Given the description of an element on the screen output the (x, y) to click on. 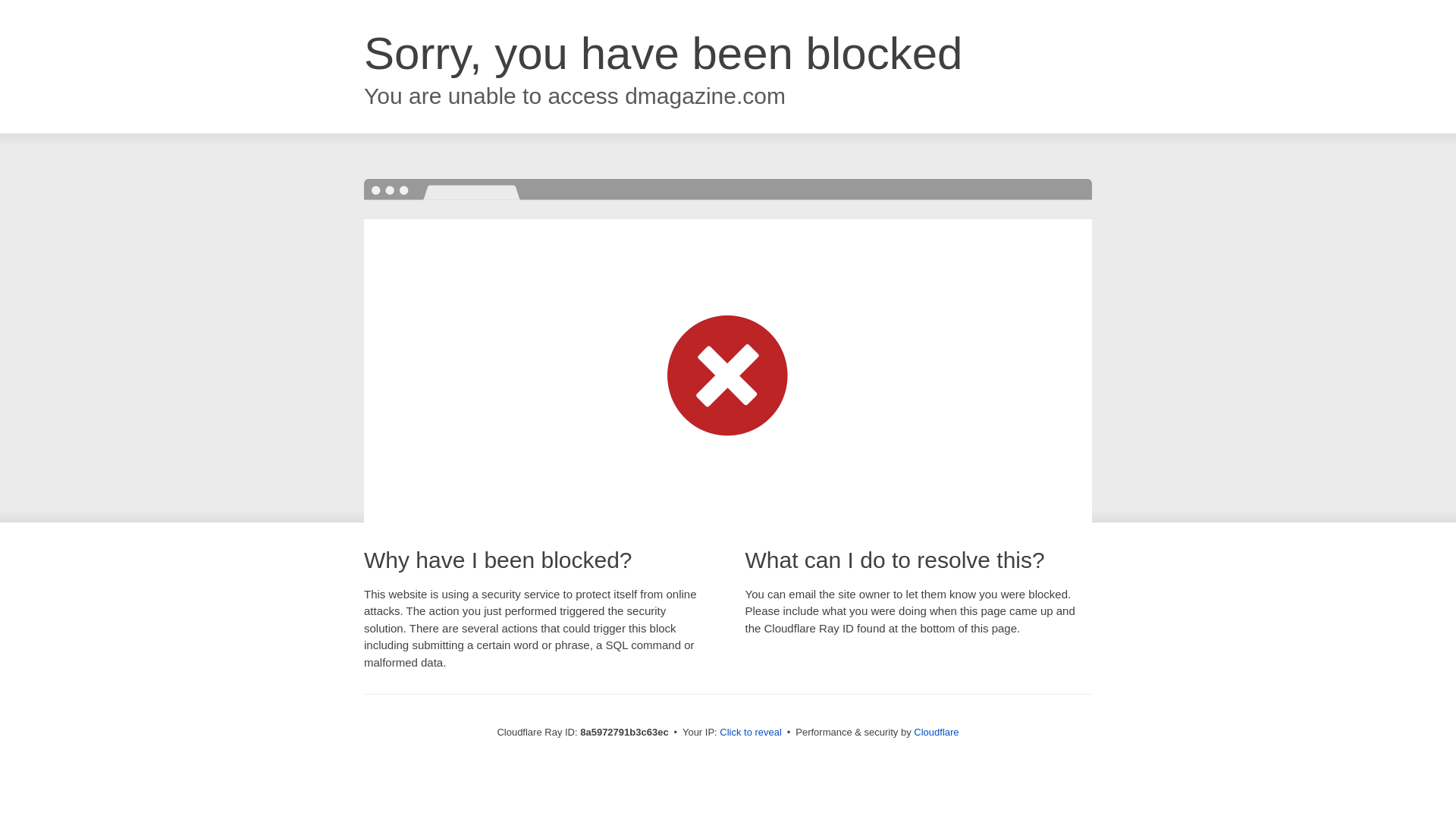
Cloudflare (936, 731)
Click to reveal (750, 732)
